Given the description of an element on the screen output the (x, y) to click on. 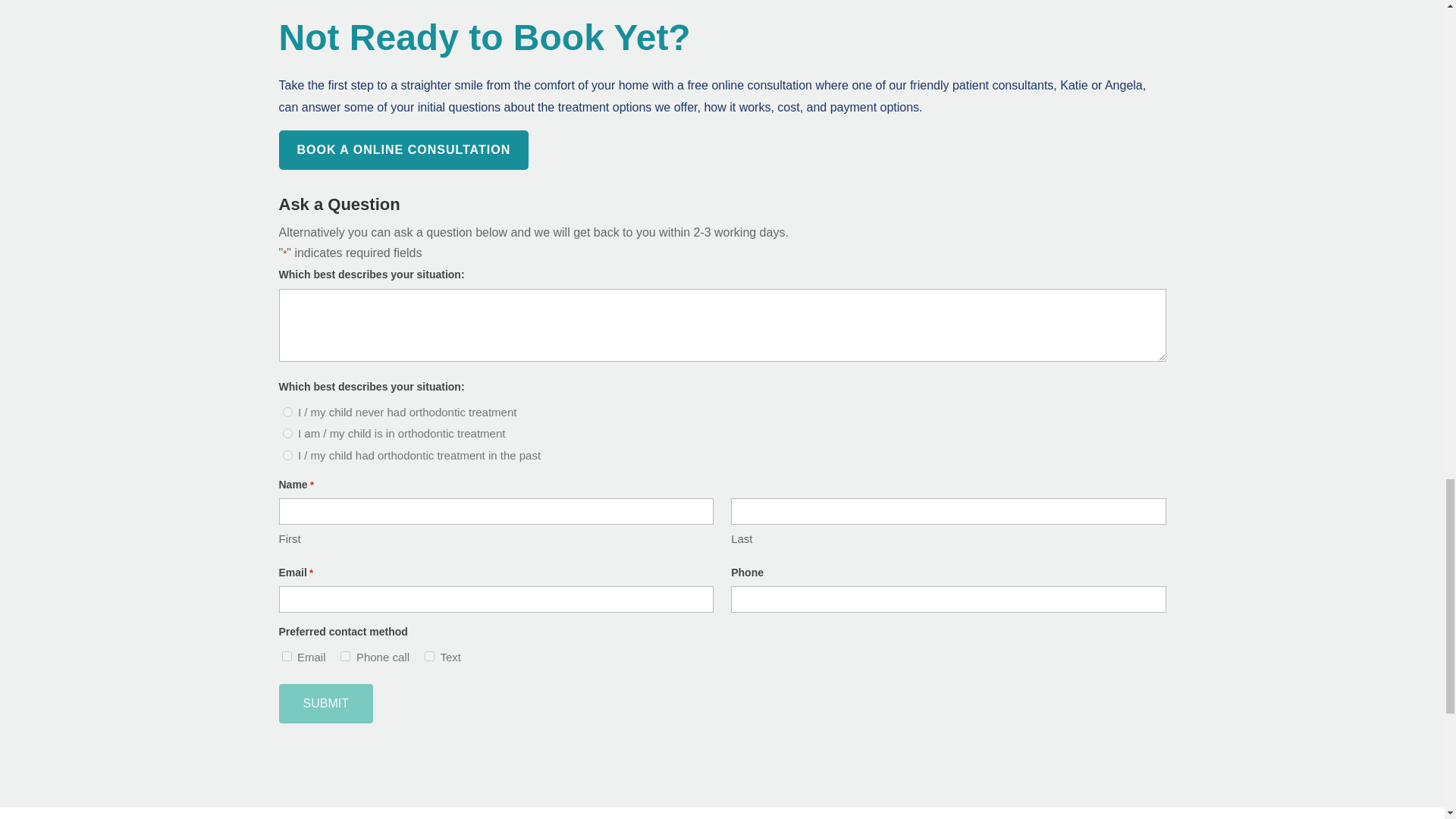
Submit (325, 703)
BOOK A ONLINE CONSULTATION (404, 150)
Phone call (345, 655)
Text (429, 655)
Email (287, 655)
Submit (325, 703)
